Given the description of an element on the screen output the (x, y) to click on. 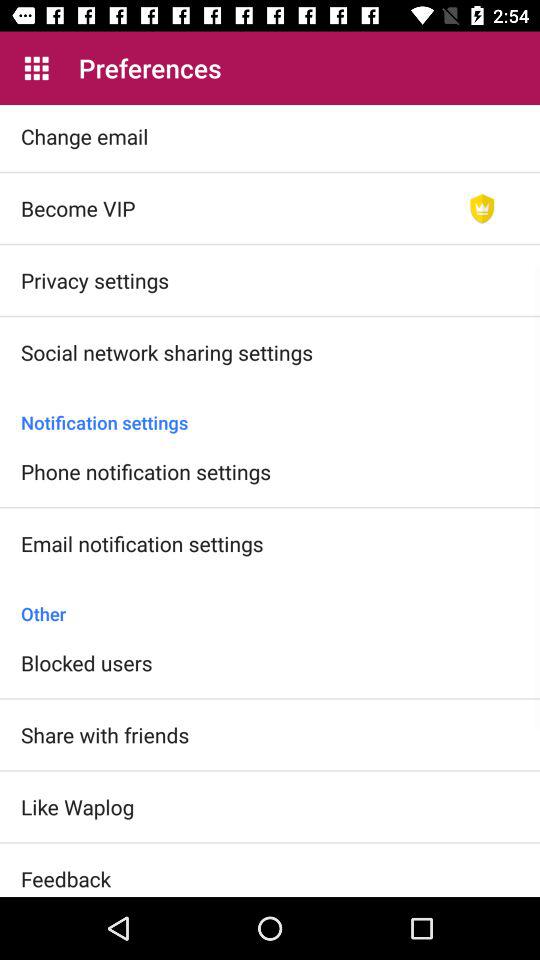
jump until the blocked users item (86, 662)
